Given the description of an element on the screen output the (x, y) to click on. 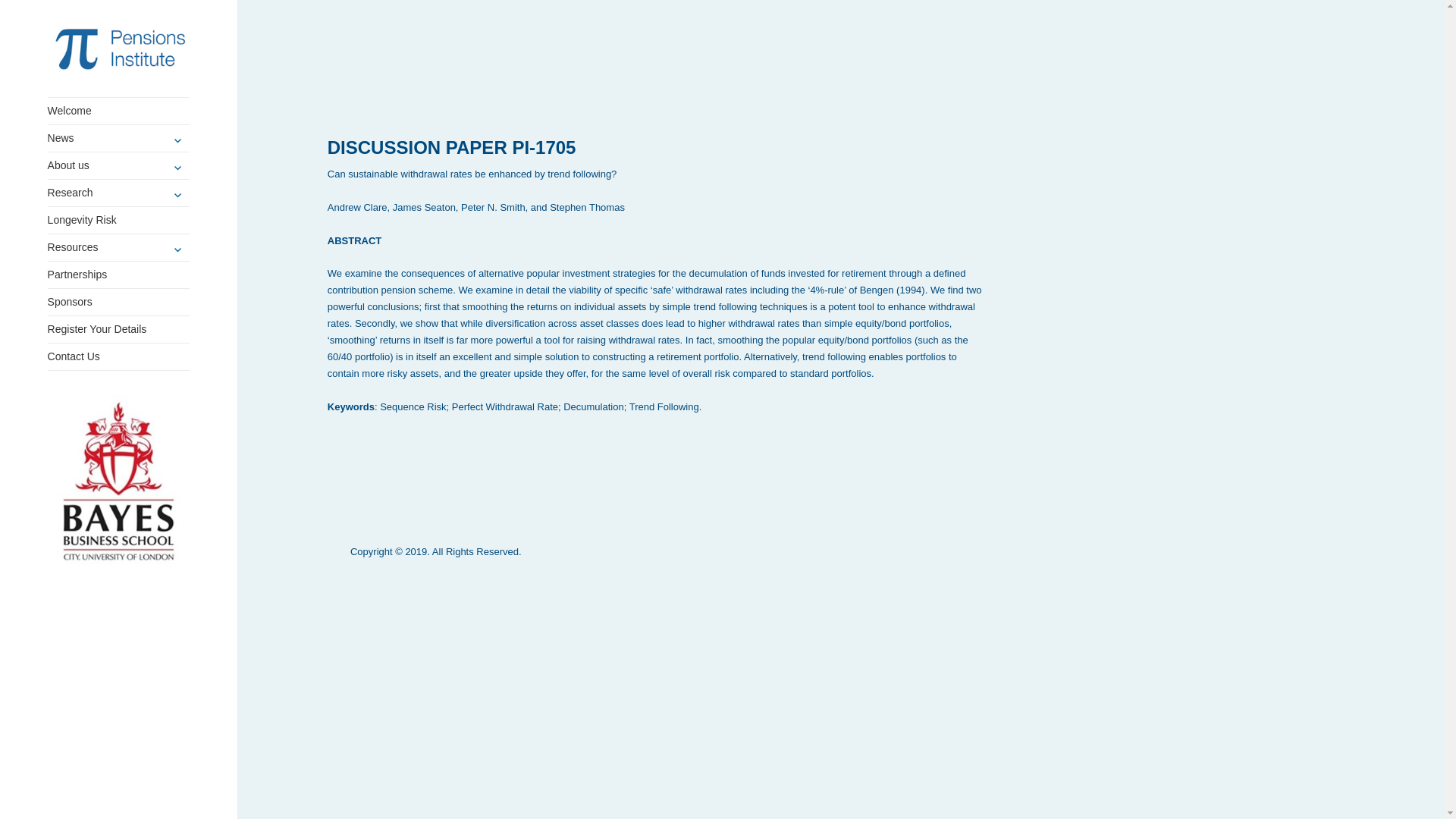
About us (119, 165)
Partnerships (119, 274)
expand child menu (177, 167)
Sponsors (119, 302)
Research (119, 192)
Contact Us (119, 356)
Resources (119, 247)
News (119, 138)
Welcome (119, 110)
expand child menu (177, 249)
